Given the description of an element on the screen output the (x, y) to click on. 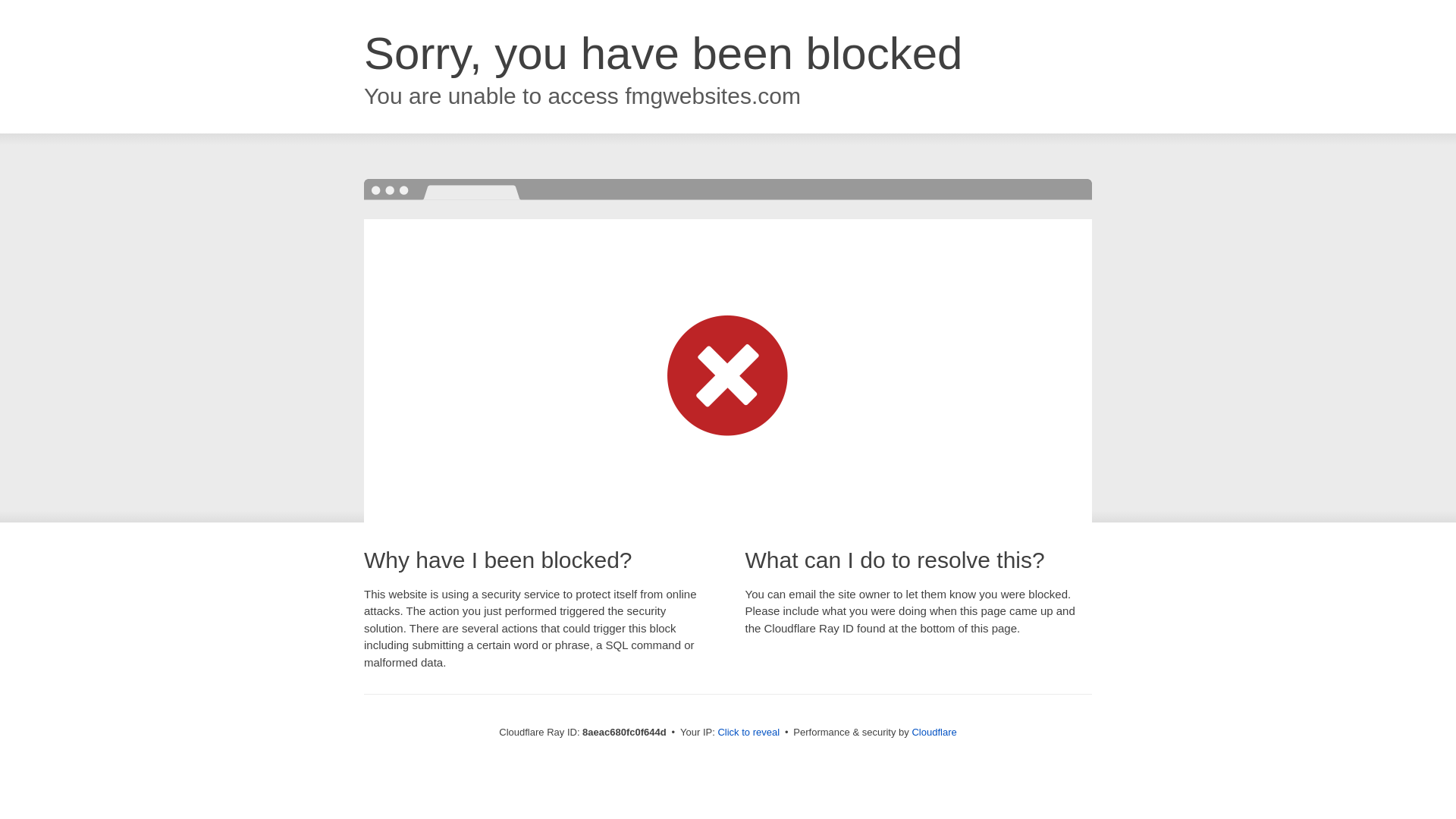
Click to reveal (747, 732)
Cloudflare (933, 731)
